Given the description of an element on the screen output the (x, y) to click on. 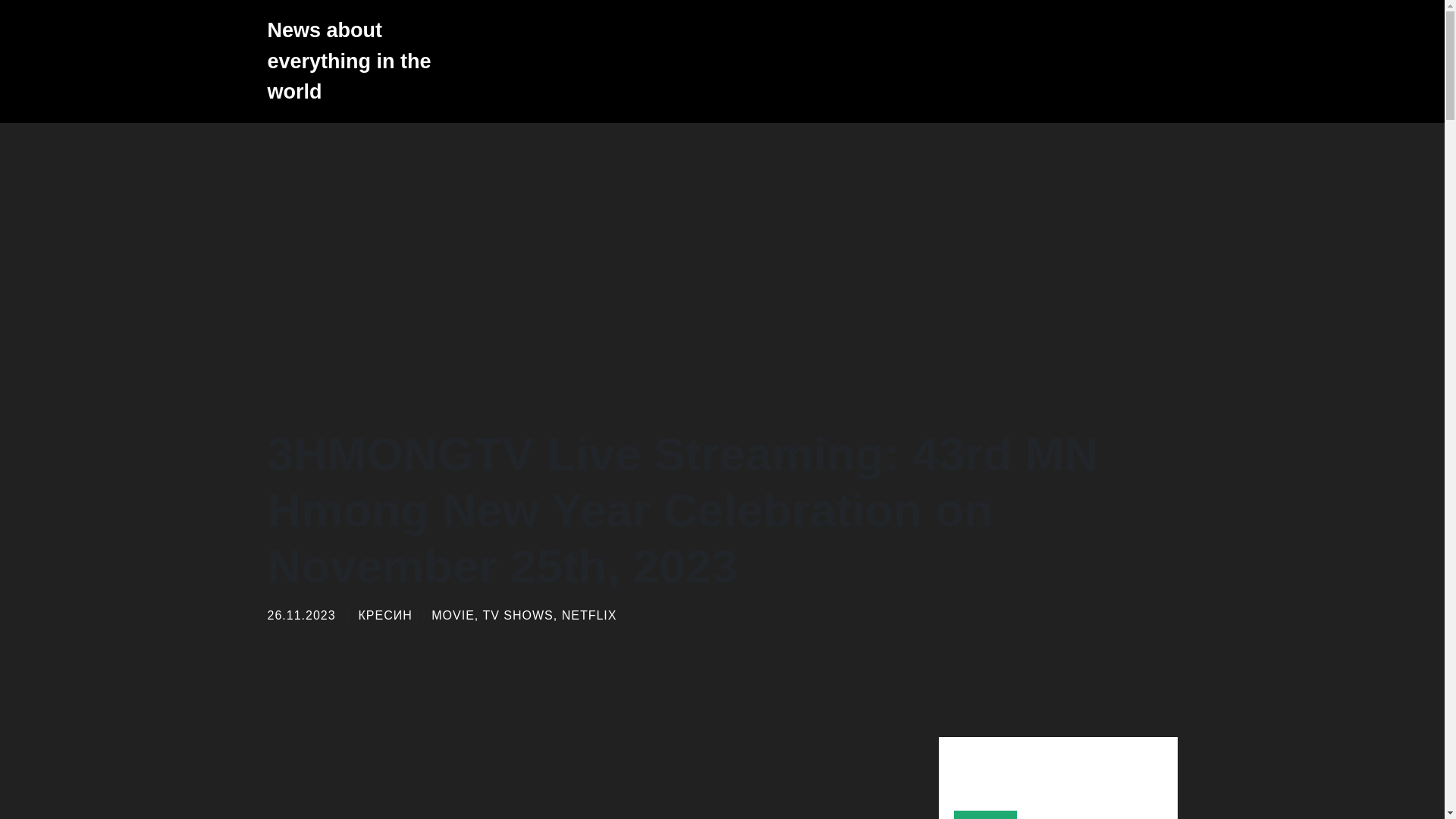
News about everything in the world (357, 61)
MOVIE, TV SHOWS, NETFLIX (522, 615)
Search (985, 814)
26.11.2023 (300, 615)
News about everything in the world (357, 61)
